Given the description of an element on the screen output the (x, y) to click on. 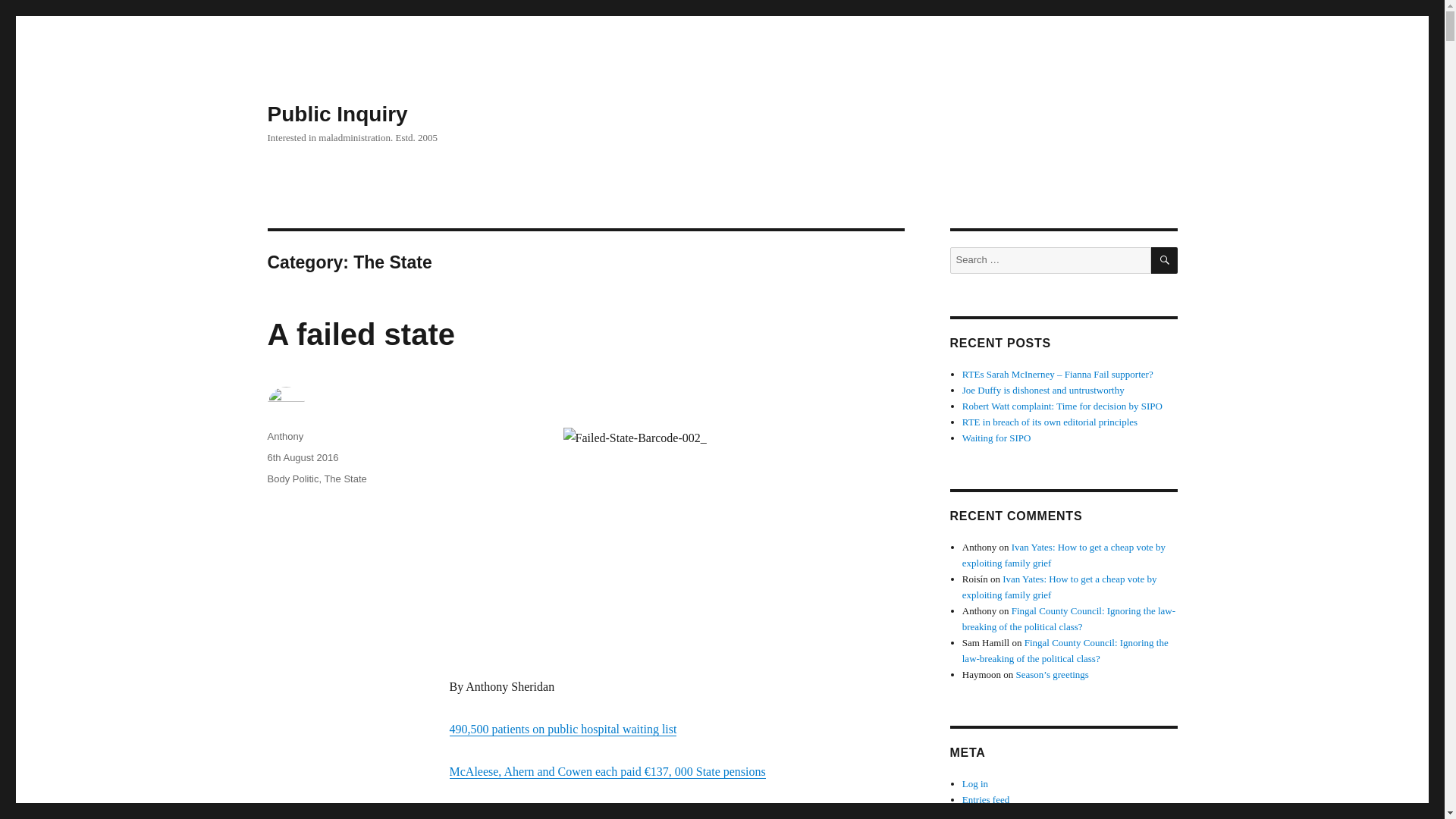
The State (344, 478)
6th August 2016 (301, 457)
Anthony (284, 436)
A failed state (360, 334)
Body Politic (292, 478)
Public Inquiry (336, 114)
490,500 patients on public hospital waiting list (562, 728)
